Given the description of an element on the screen output the (x, y) to click on. 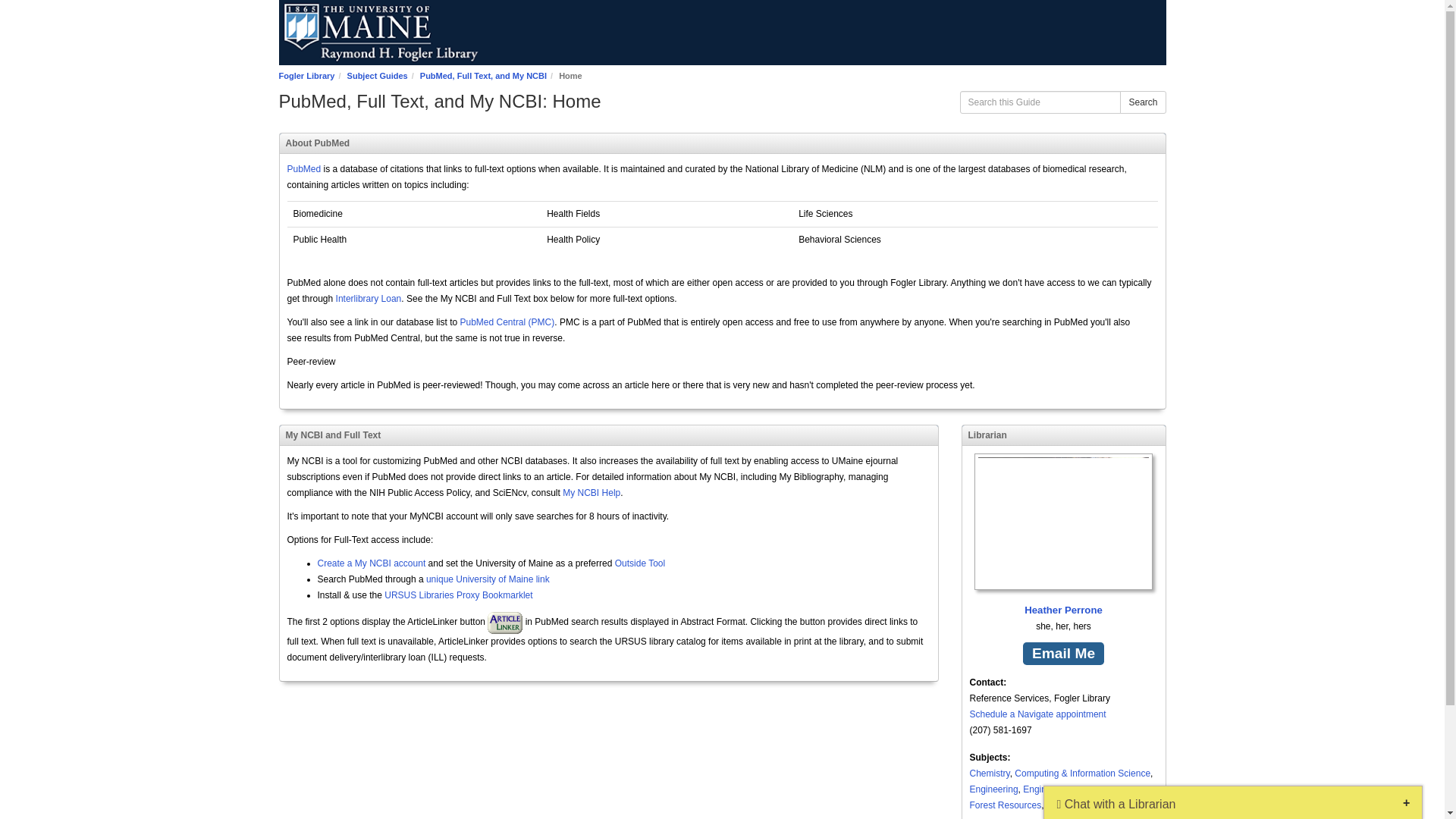
Create a My NCBI account (371, 562)
Fogler Library (306, 75)
My NCBI Help (591, 492)
Physics (1098, 805)
Schedule a Navigate appointment (1037, 714)
Engineering Technologies (1074, 788)
Email Me (1063, 653)
Forest Resources (1005, 805)
unique University of Maine link (488, 579)
PubMed (303, 168)
